Given the description of an element on the screen output the (x, y) to click on. 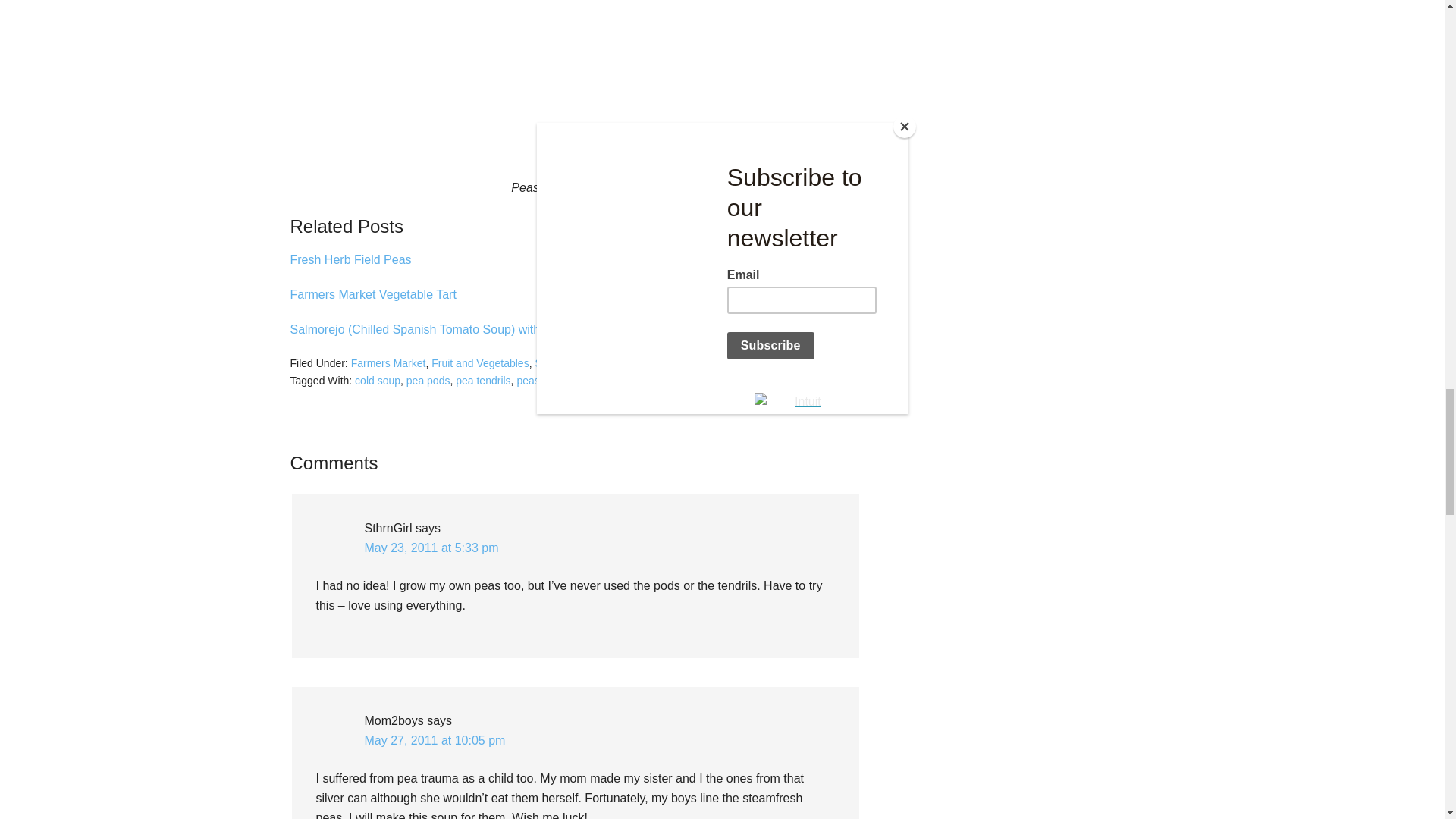
Fruit and Vegetables (479, 363)
Soup and Salads (606, 363)
Spring (590, 380)
Vegetables (678, 363)
May 23, 2011 at 5:33 pm (430, 547)
peas (527, 380)
Farmers Market (388, 363)
May 27, 2011 at 10:05 pm (434, 739)
Soup (546, 363)
cold soup (377, 380)
